Given the description of an element on the screen output the (x, y) to click on. 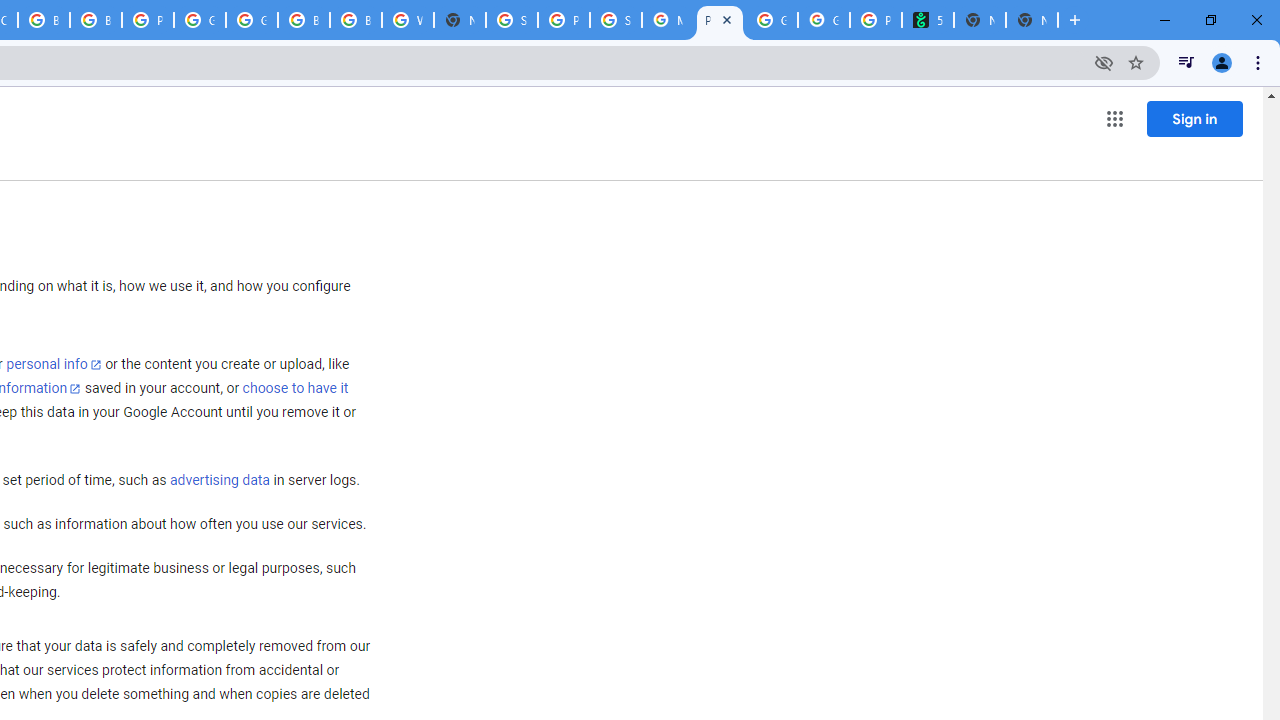
Browse Chrome as a guest - Computer - Google Chrome Help (355, 20)
Browse Chrome as a guest - Computer - Google Chrome Help (43, 20)
Google Cloud Platform (200, 20)
Browse Chrome as a guest - Computer - Google Chrome Help (303, 20)
New Tab (459, 20)
Control your music, videos, and more (1185, 62)
